Given the description of an element on the screen output the (x, y) to click on. 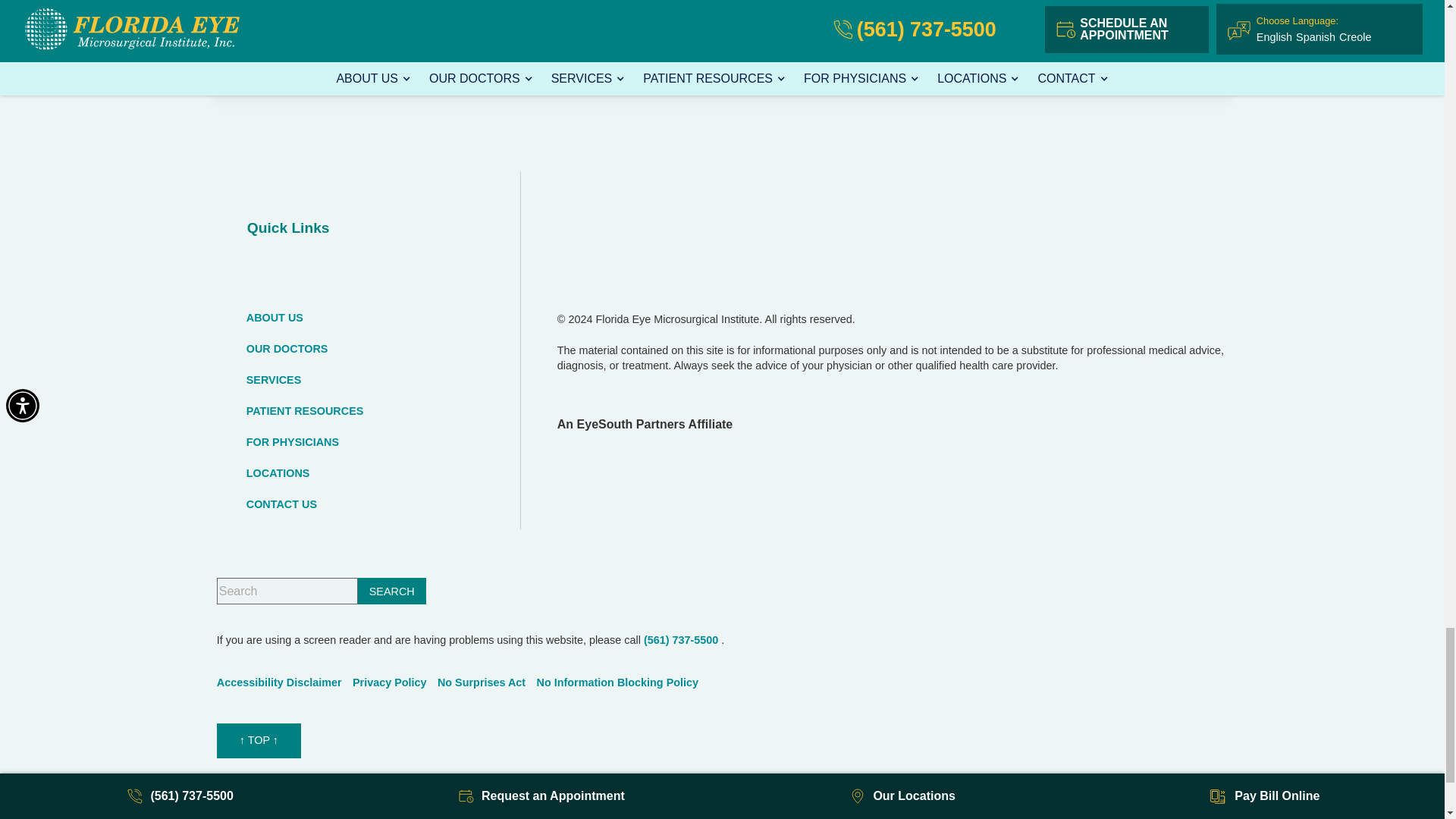
Search (392, 591)
Search (392, 591)
